Given the description of an element on the screen output the (x, y) to click on. 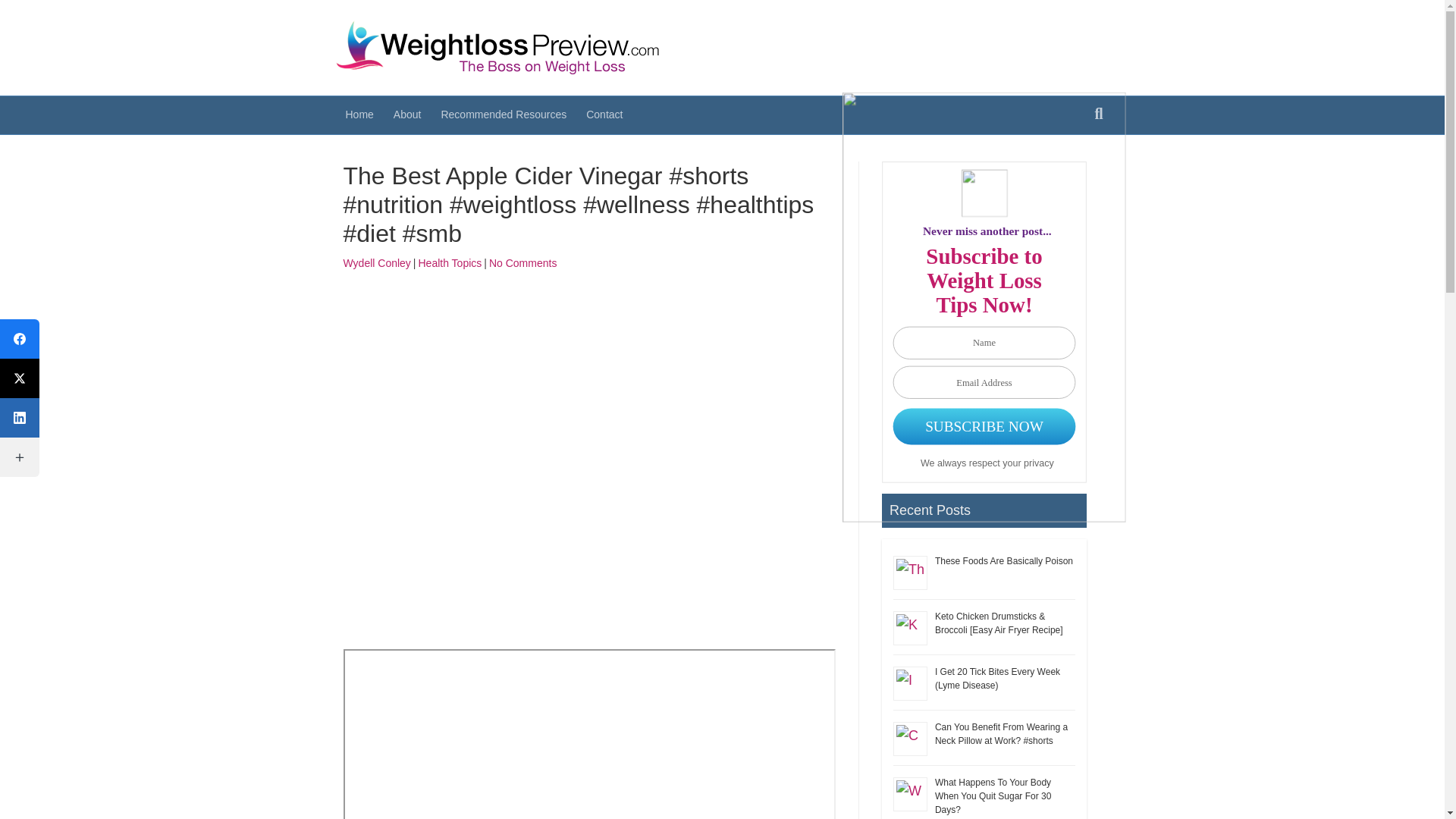
About (407, 115)
Contact (603, 115)
What Happens To Your Body When You Quit Sugar For 30 Days? (992, 795)
Recommended Resources (503, 115)
These Foods Are Basically Poison (1003, 561)
Health Topics (450, 263)
Wydell Conley (376, 263)
SUBSCRIBE NOW (986, 426)
Home (358, 115)
No Comments (522, 263)
